Given the description of an element on the screen output the (x, y) to click on. 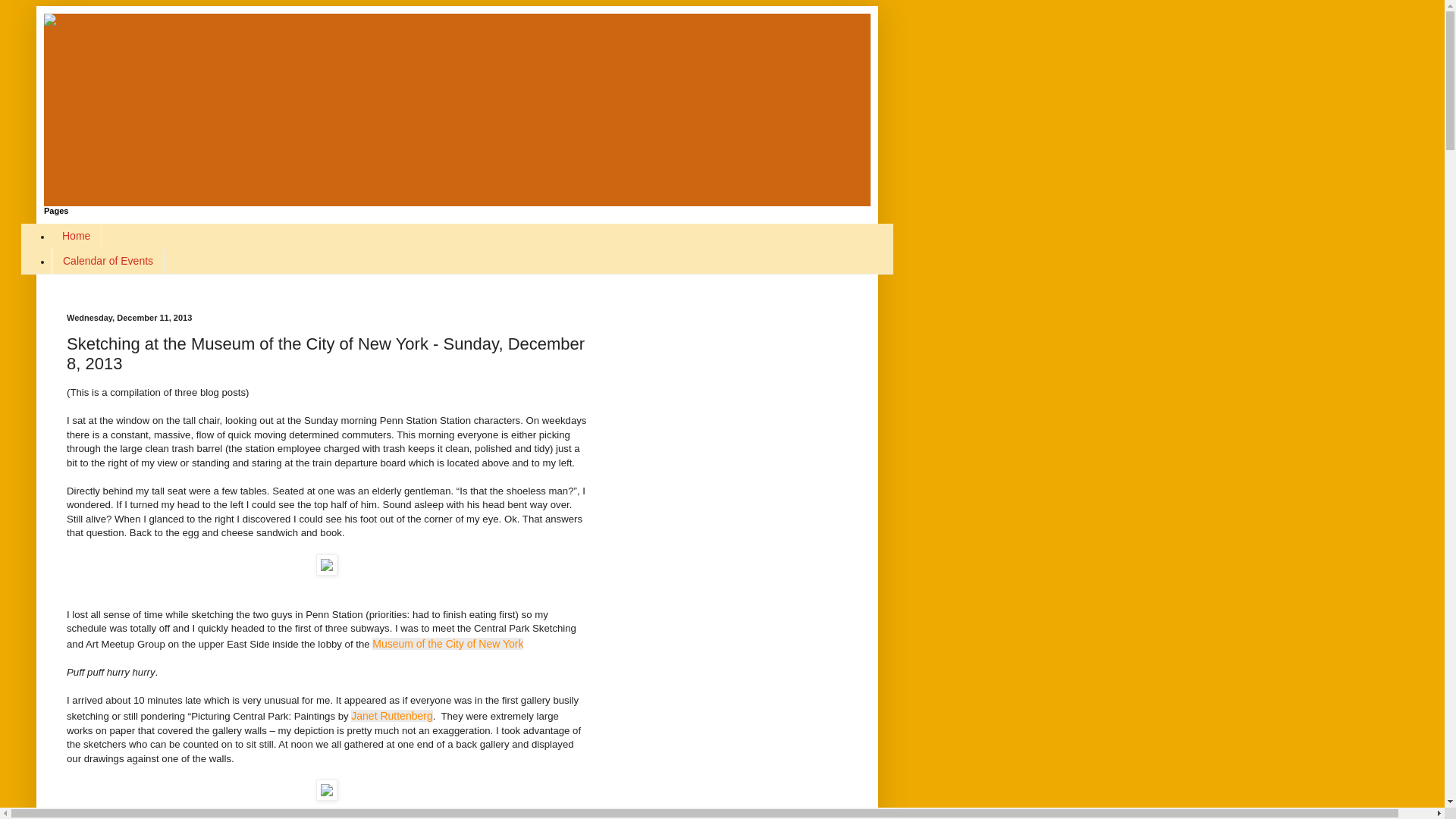
Calendar of Events (107, 260)
anet  (368, 715)
Ruttenberg (406, 715)
Museum of the City of New York (447, 644)
Home (75, 235)
